Given the description of an element on the screen output the (x, y) to click on. 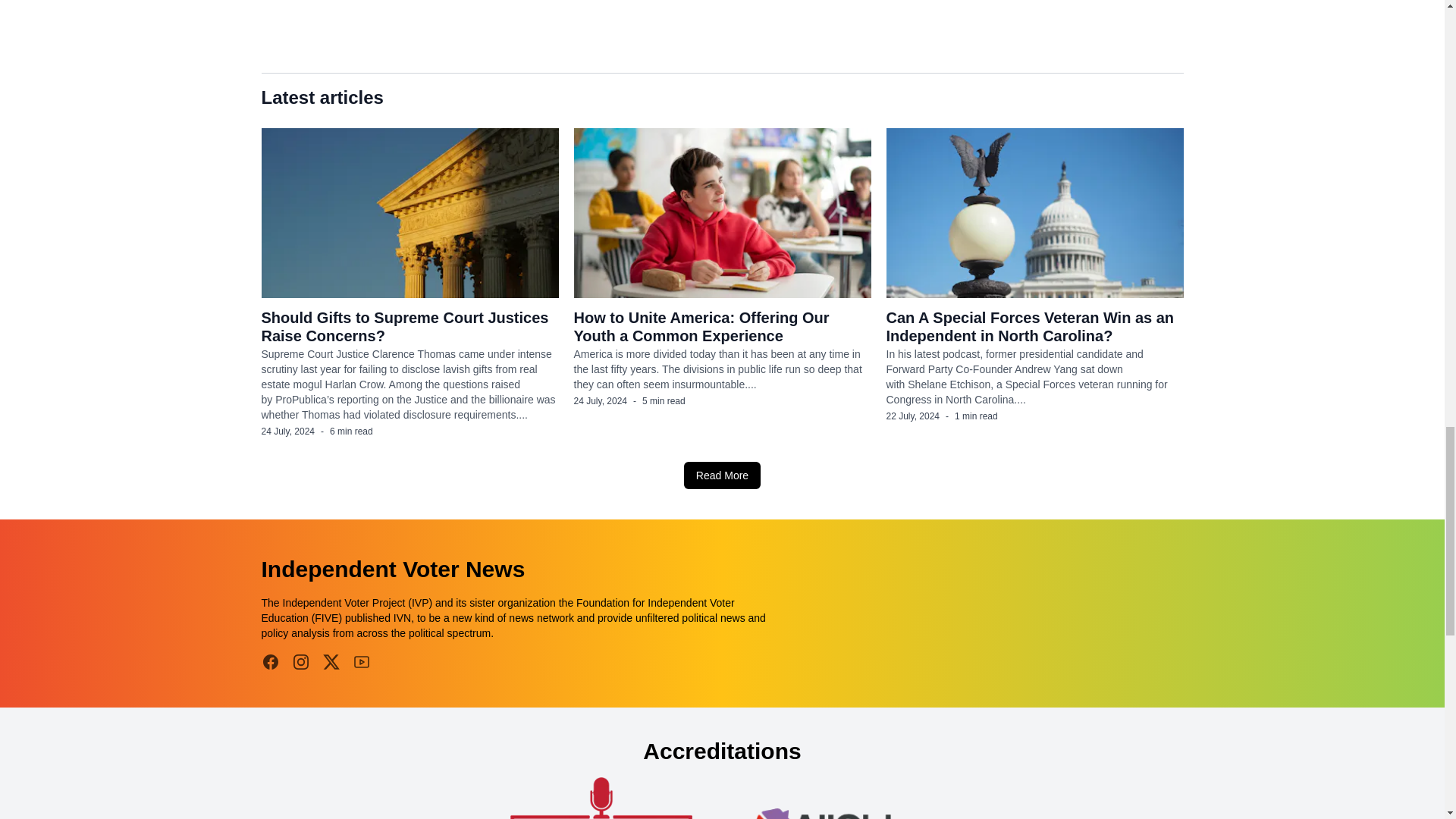
How to Unite America: Offering Our Youth a Common Experience (700, 326)
Read More (722, 474)
Should Gifts to Supreme Court Justices Raise Concerns? (404, 326)
